Given the description of an element on the screen output the (x, y) to click on. 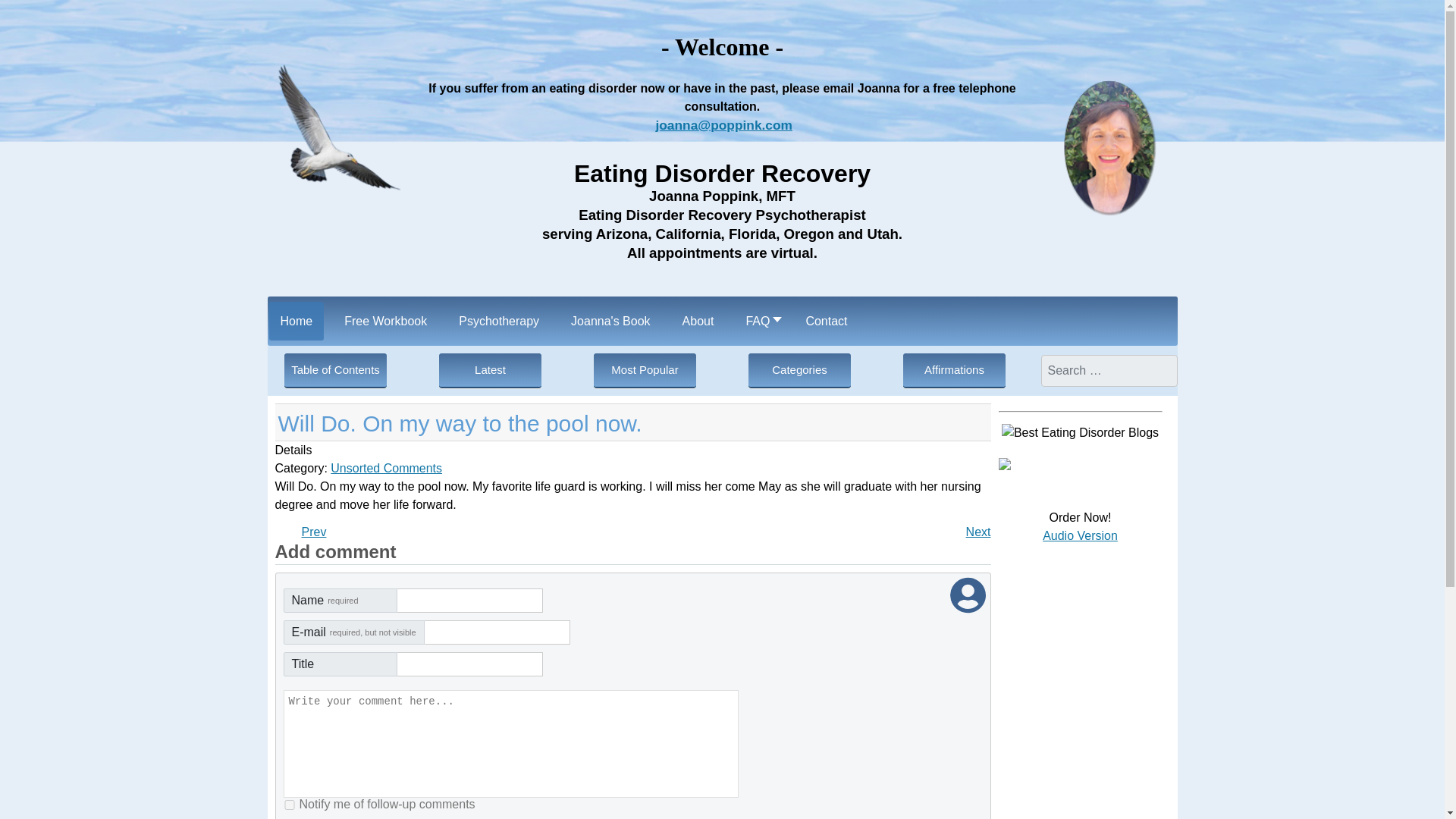
Unsorted Comments (386, 468)
Affirmations (954, 370)
Contact (826, 321)
Latest (490, 370)
Joanna's Book (978, 531)
Order online here. (610, 321)
About (1080, 535)
I never connected the trust in myself wi (698, 321)
Table of Contents (313, 531)
Prev (335, 370)
Find me on EDReferral.com (313, 531)
Most Popular (1003, 465)
1 (644, 370)
FAQ (289, 804)
